Given the description of an element on the screen output the (x, y) to click on. 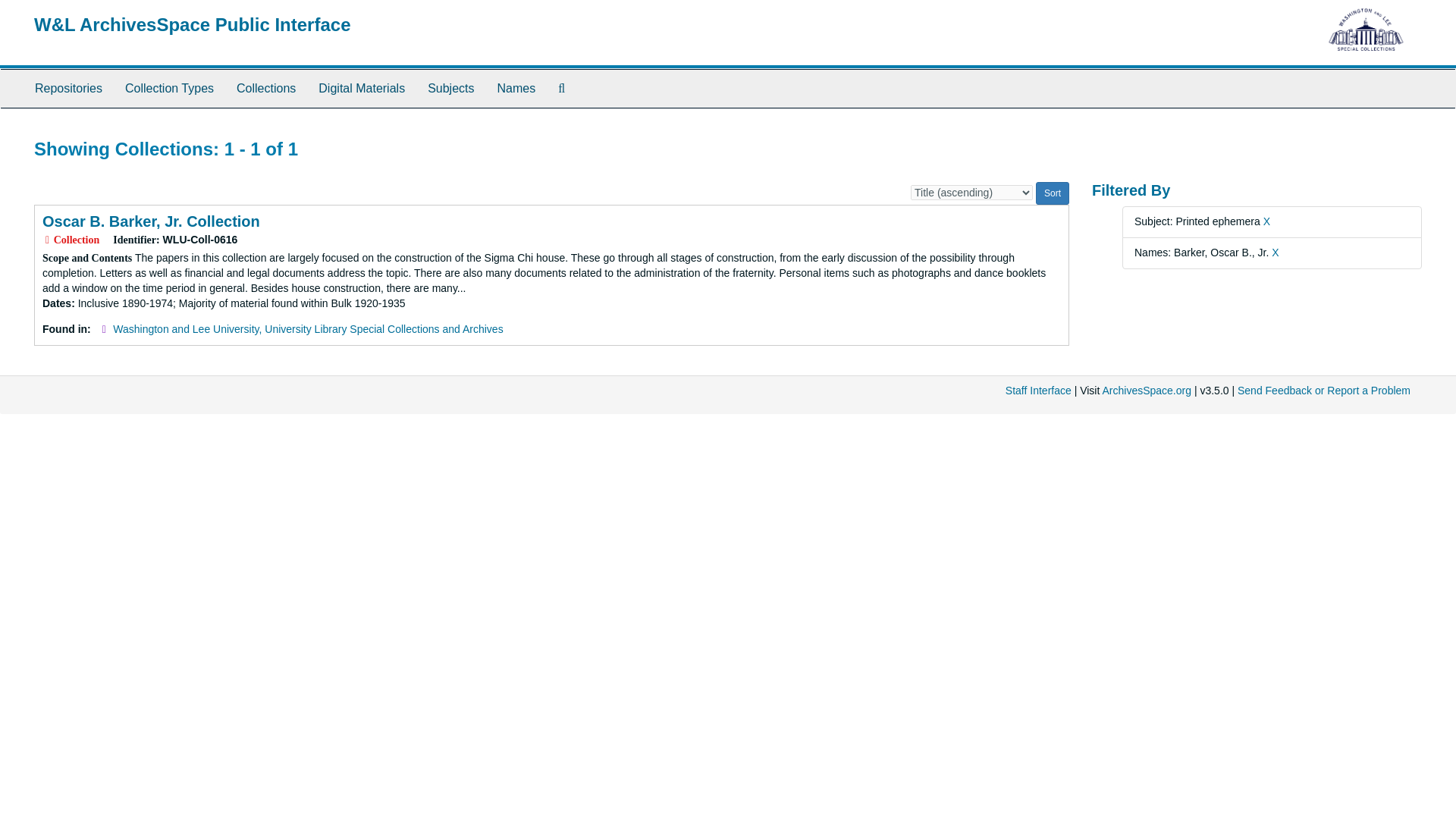
Send Feedback or Report a Problem (1323, 390)
Digital Materials (361, 88)
Sort (1051, 192)
Collections (266, 88)
ArchivesSpace.org (1146, 390)
Names (515, 88)
Repositories (68, 88)
Sort (1051, 192)
Staff Interface (1038, 390)
